Given the description of an element on the screen output the (x, y) to click on. 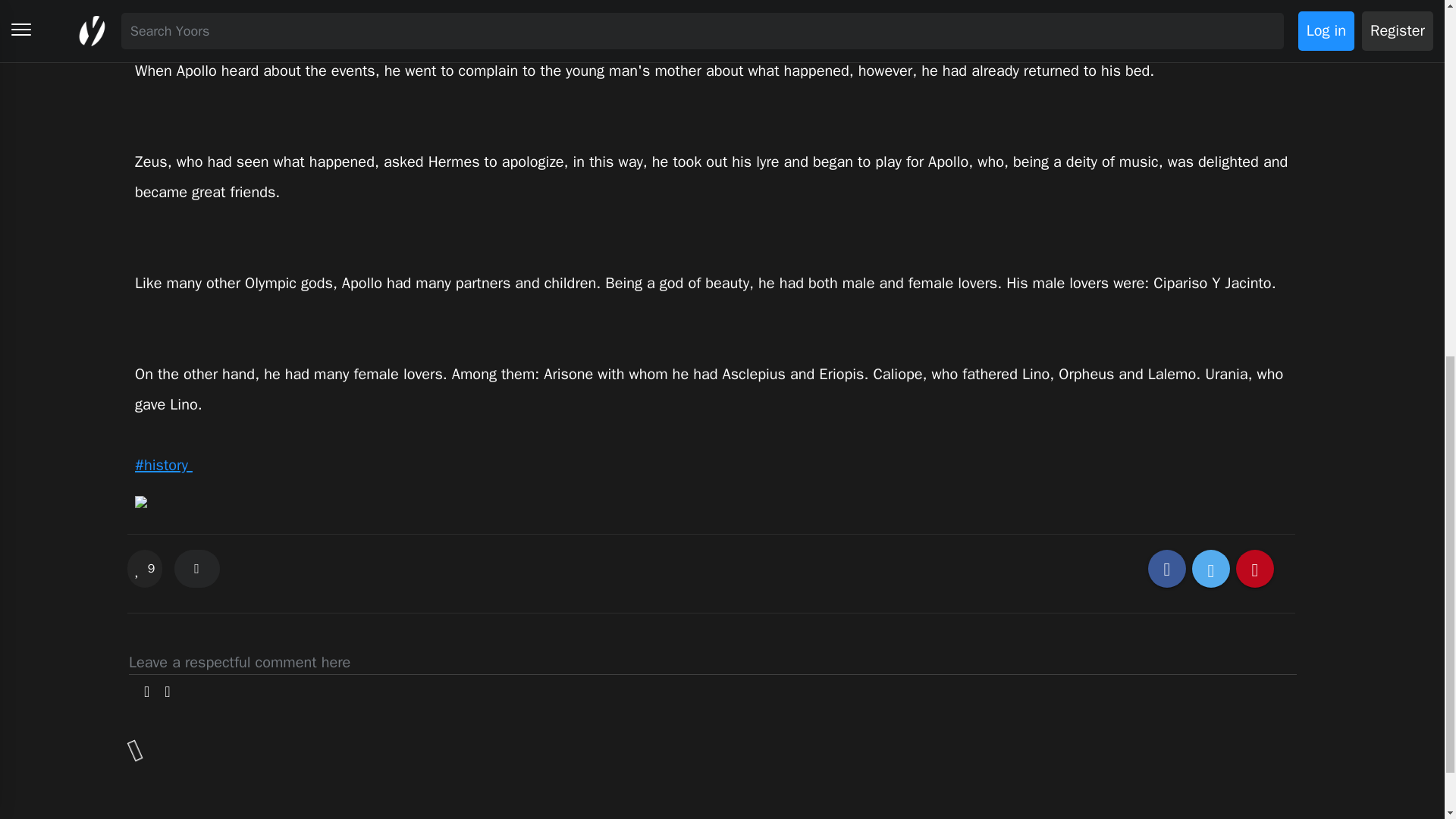
Share on Twitter (1211, 568)
Share on Pinterest (1255, 568)
Share on Facebook (1167, 568)
